Given the description of an element on the screen output the (x, y) to click on. 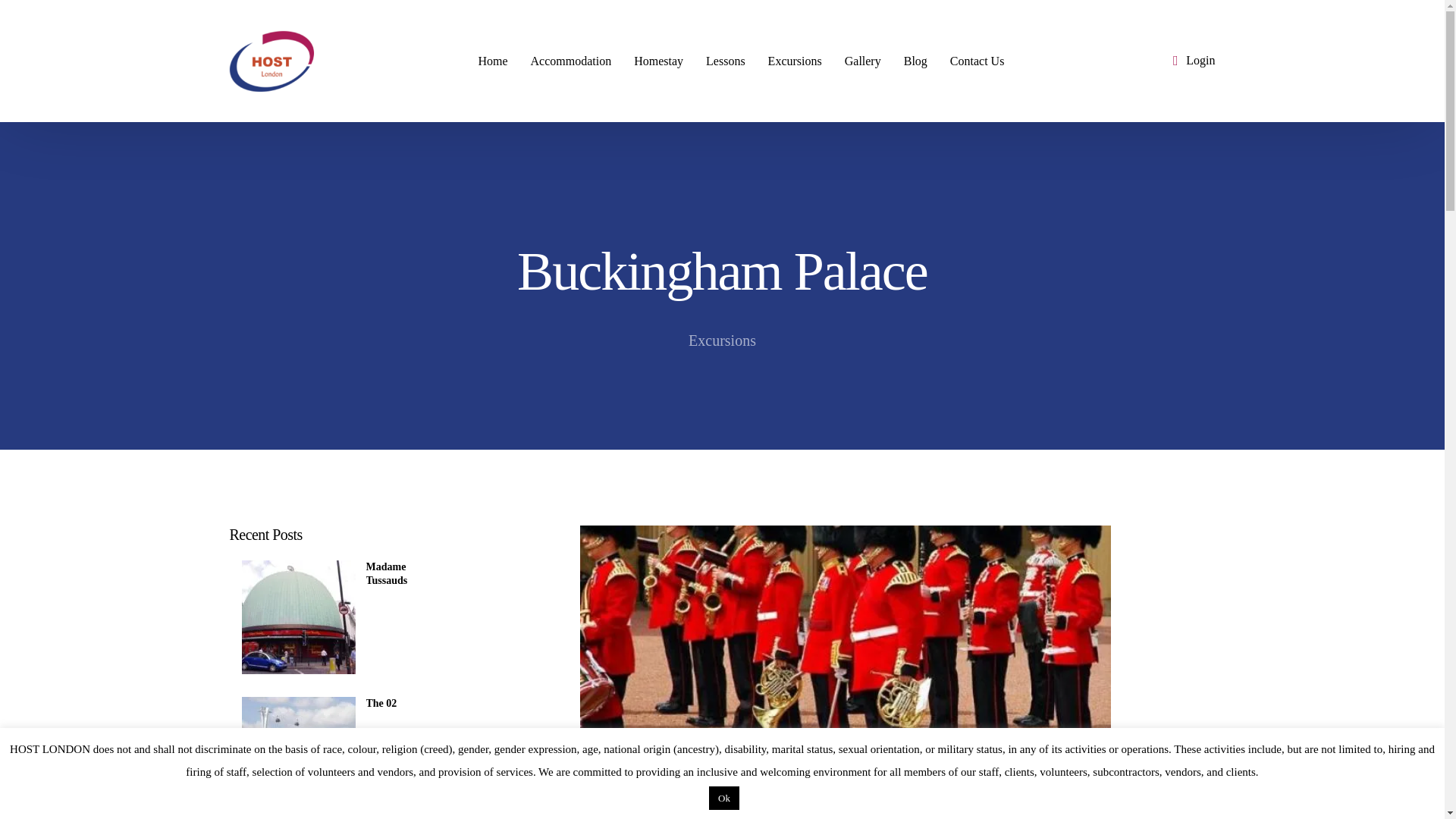
Excursions (721, 340)
The 02 (401, 703)
Madame Tussauds (401, 574)
